Given the description of an element on the screen output the (x, y) to click on. 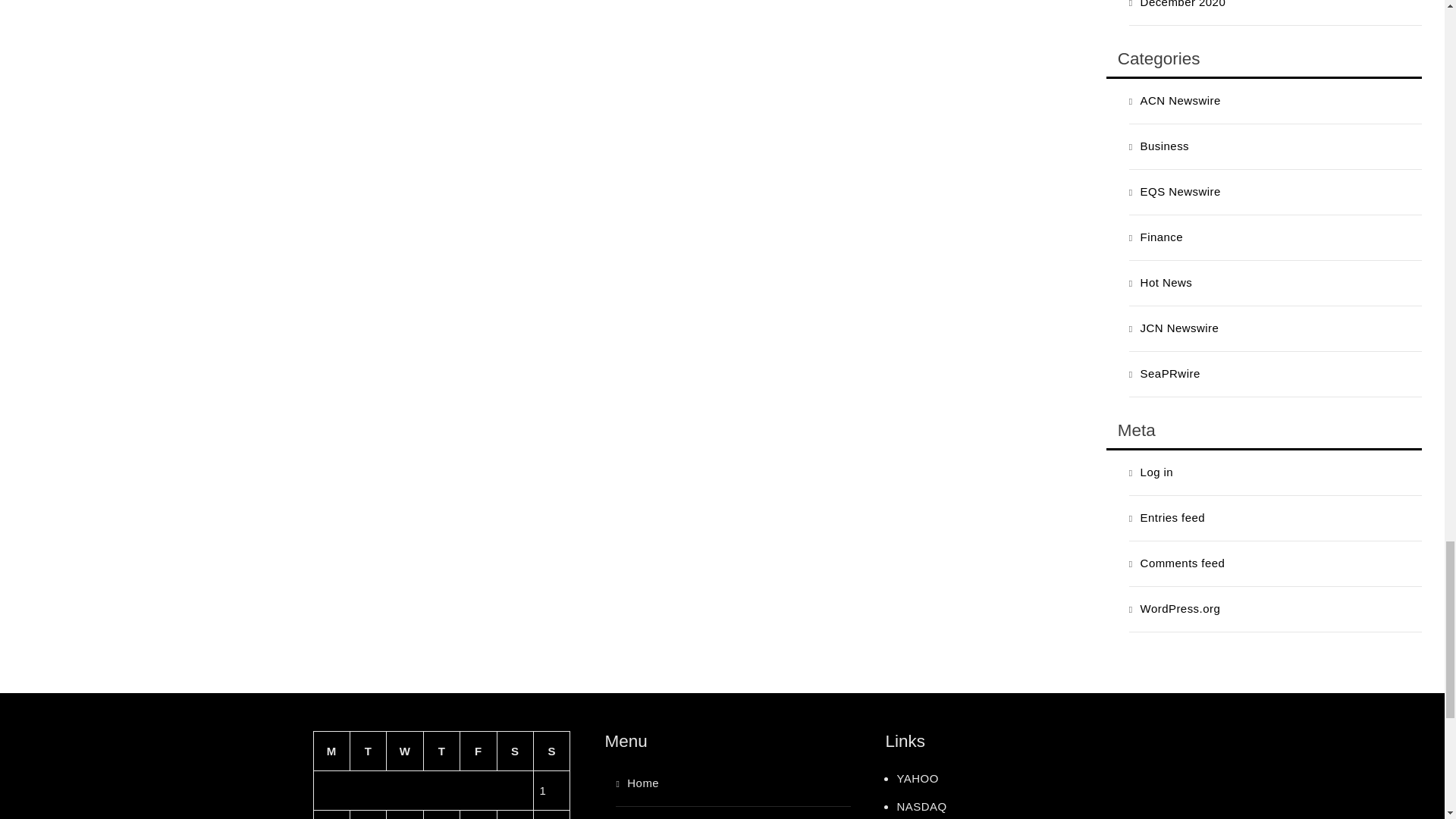
Sunday (552, 751)
Tuesday (367, 751)
Monday (331, 751)
Wednesday (405, 751)
Saturday (514, 751)
Friday (478, 751)
Thursday (441, 751)
